Given the description of an element on the screen output the (x, y) to click on. 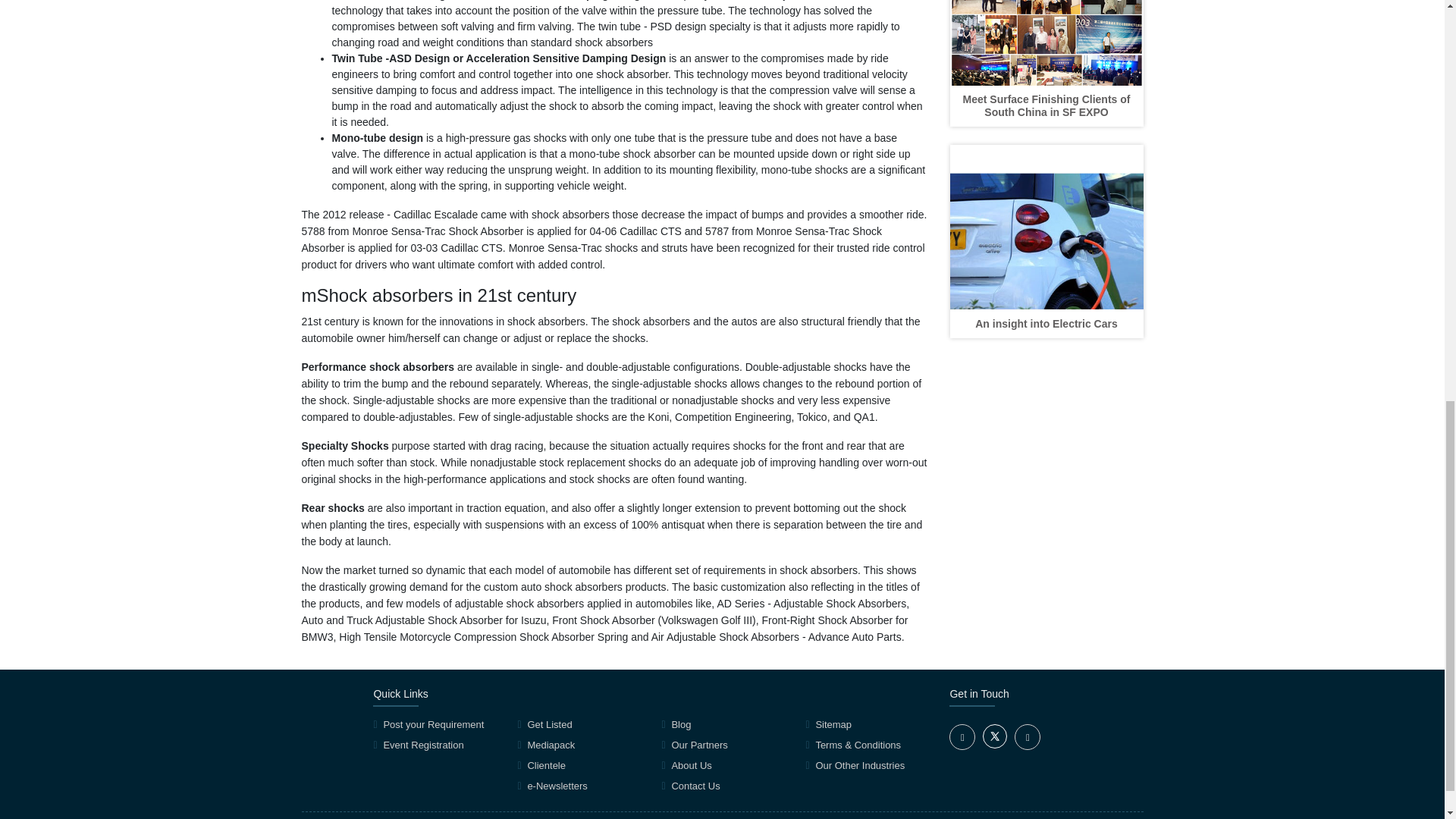
Mediapack (551, 745)
Event Registration (422, 745)
Post your Requirement (432, 724)
Facebook (962, 736)
Meet Surface Finishing Clients of South China in SF EXPO (1046, 105)
Get Listed (549, 724)
An insight into Electric Cars (1045, 323)
Clientele (546, 765)
LinkedIn (1027, 736)
Twitter (994, 745)
